Given the description of an element on the screen output the (x, y) to click on. 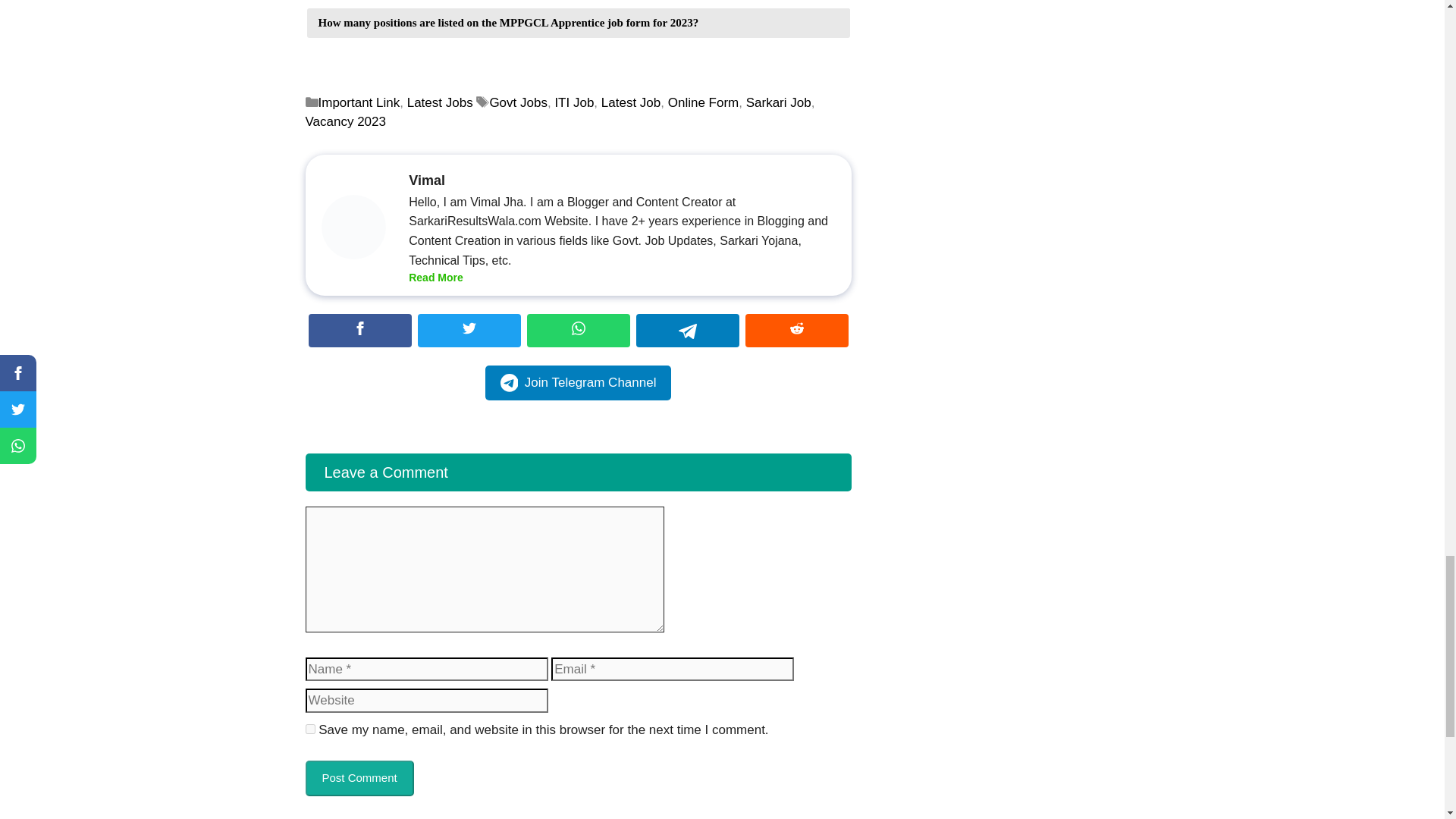
Read more about this author (436, 277)
ITI Job (574, 102)
Latest Jobs (440, 102)
Read More (436, 277)
Sarkari Job (777, 102)
yes (309, 728)
Vacancy 2023 (344, 121)
Latest Job (631, 102)
Important Link (359, 102)
Govt Jobs (518, 102)
Online Form (703, 102)
Post Comment (358, 778)
